Given the description of an element on the screen output the (x, y) to click on. 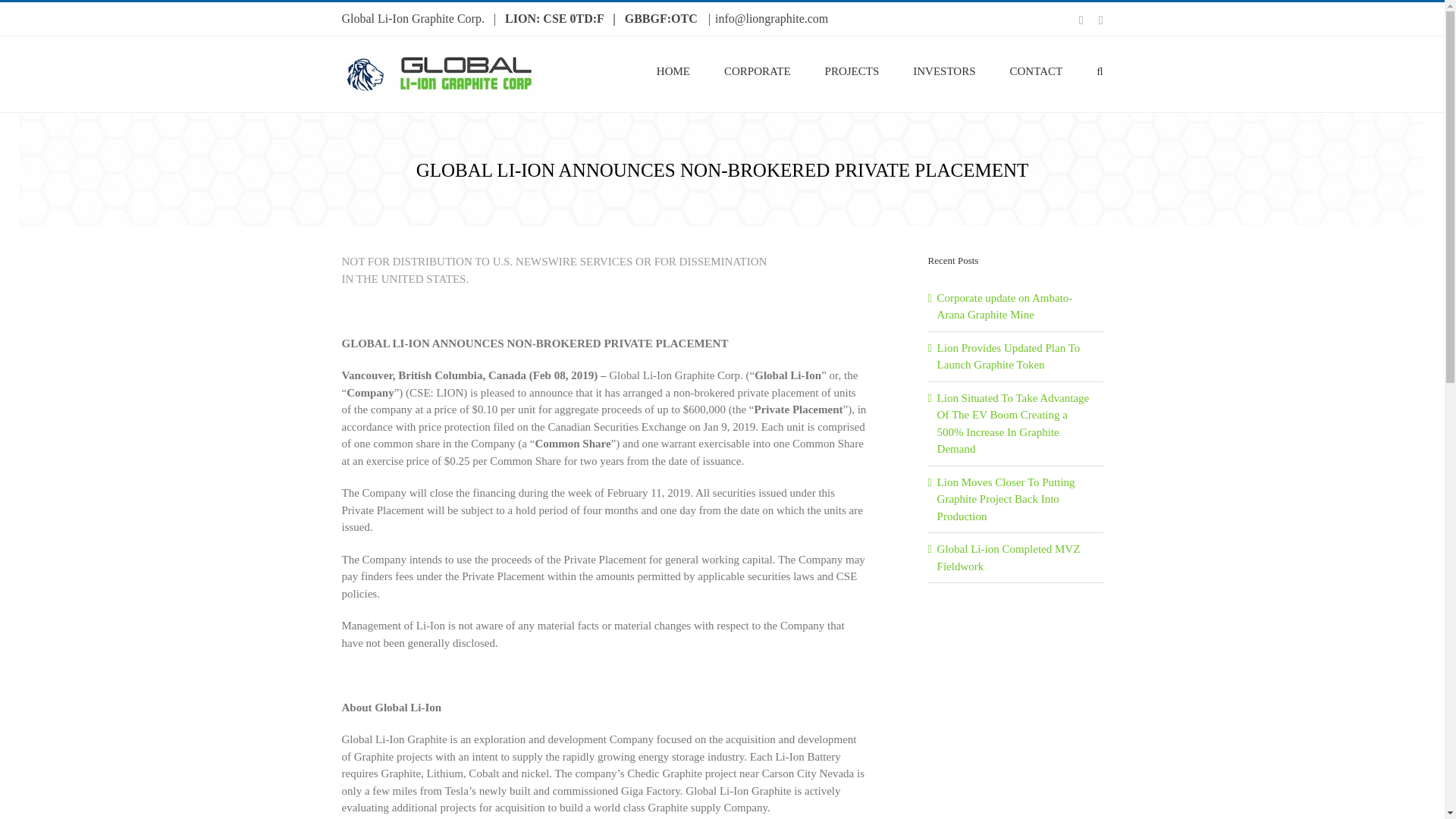
PROJECTS (852, 70)
INVESTORS (943, 70)
Facebook (1080, 20)
CONTACT (1036, 70)
CORPORATE (756, 70)
HOME (673, 70)
Twitter (1101, 20)
